Given the description of an element on the screen output the (x, y) to click on. 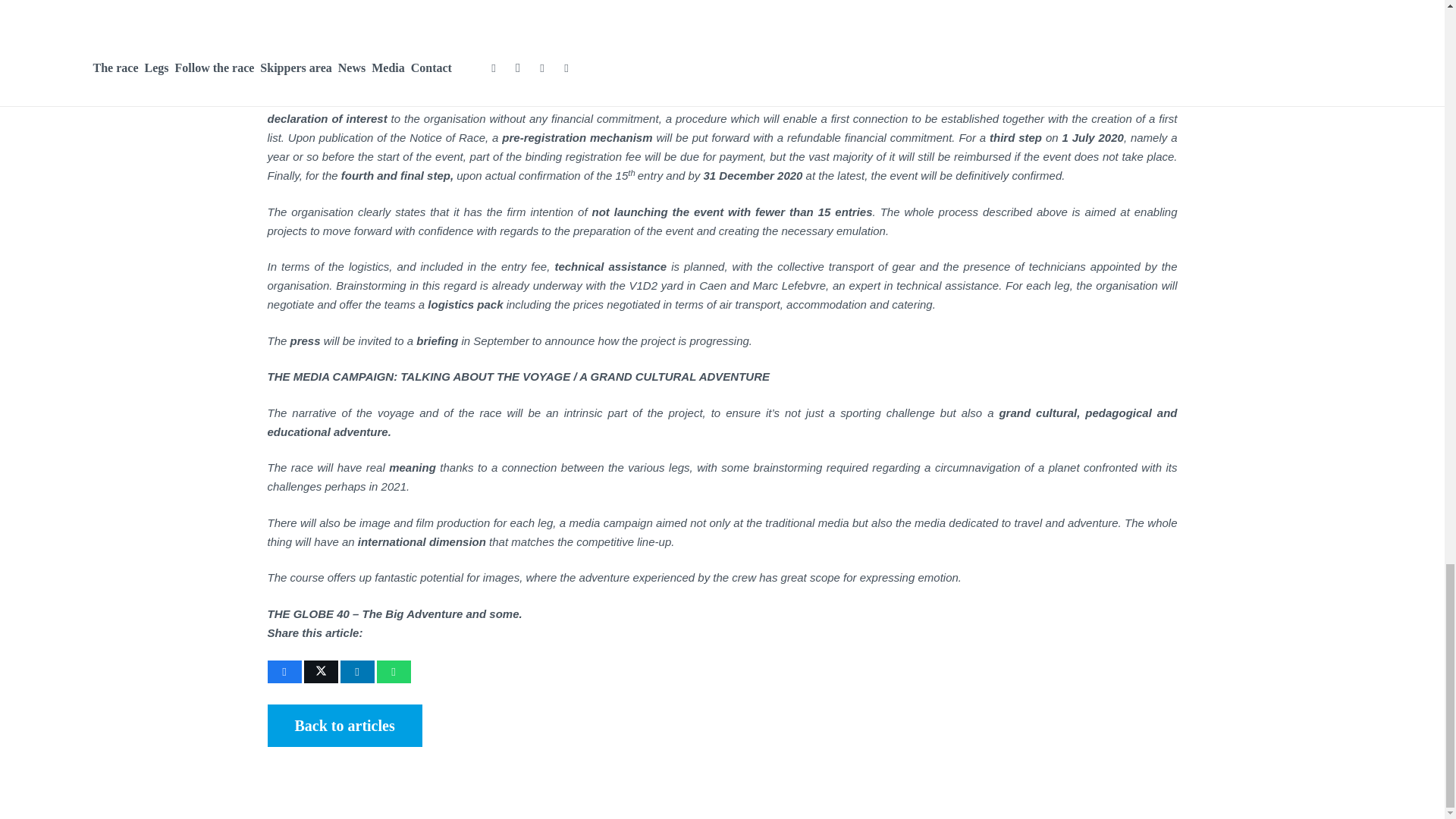
Tweet this (319, 671)
Share this (356, 671)
Share this (283, 671)
News (344, 725)
Share this (392, 671)
